Given the description of an element on the screen output the (x, y) to click on. 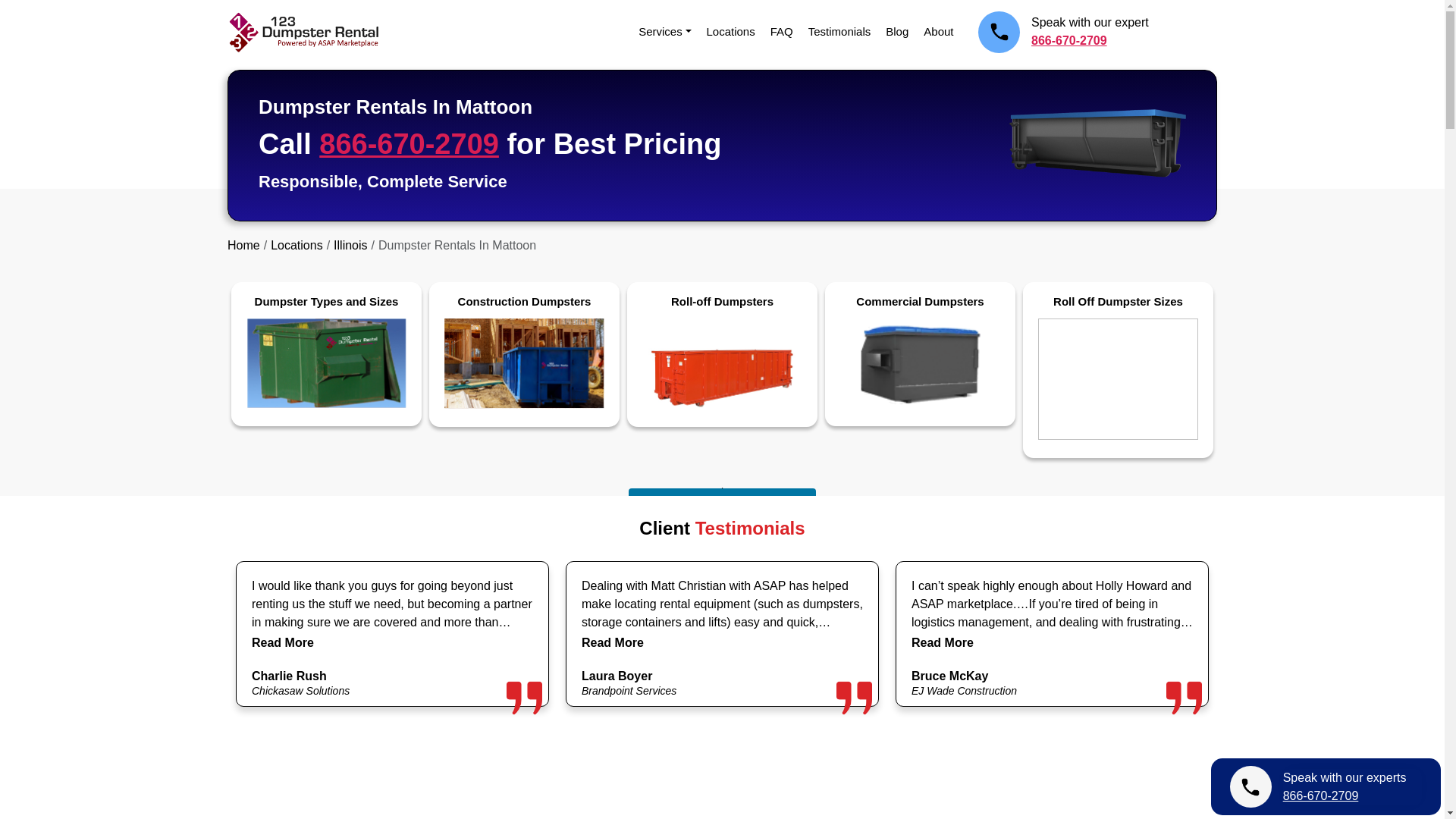
Dumpster Types and Sizes (326, 350)
Locations (296, 245)
Roll-off Dumpsters (722, 350)
Home (243, 245)
Customer reviews powered by Trustpilot (722, 794)
Read More (282, 642)
866-670-2709 (408, 143)
Commercial Dumpsters (920, 350)
Read More (942, 642)
866-670-2709 (1089, 40)
